Given the description of an element on the screen output the (x, y) to click on. 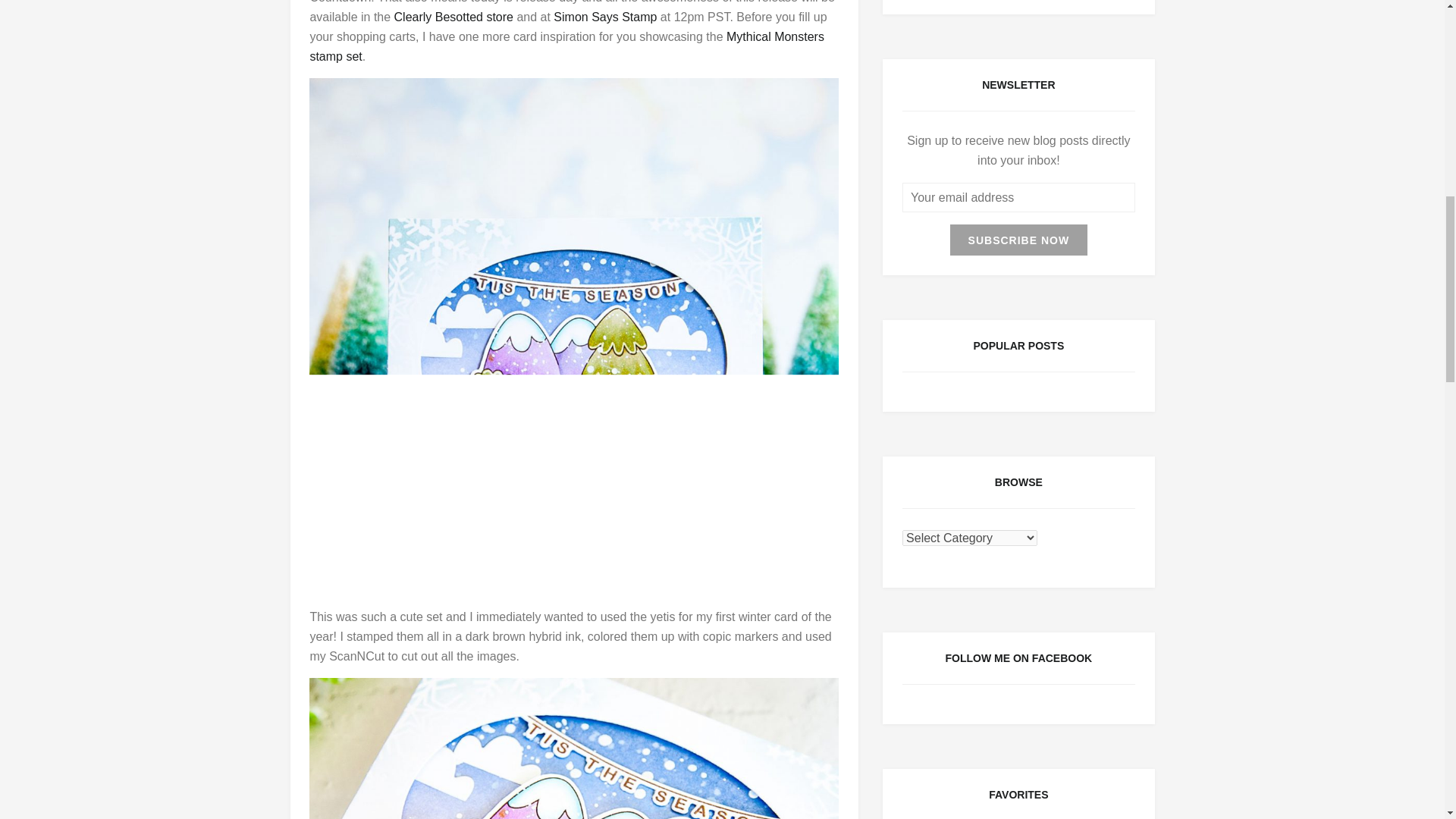
Clearly Besotted store (453, 16)
Subscribe Now (1018, 239)
Simon Says Stamp (604, 16)
Mythical Monsters stamp set (566, 46)
